Given the description of an element on the screen output the (x, y) to click on. 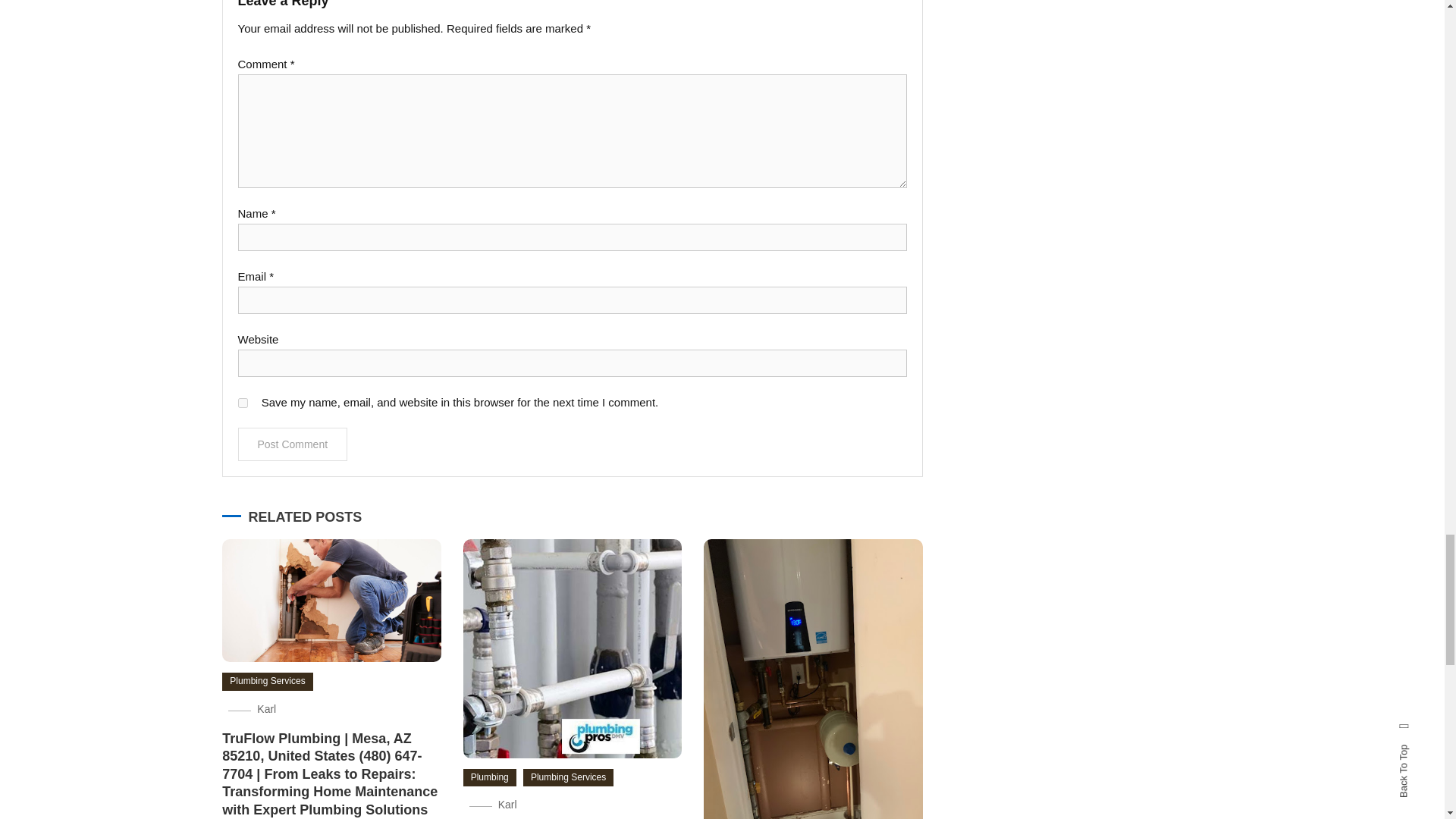
yes (242, 402)
Post Comment (292, 444)
